Given the description of an element on the screen output the (x, y) to click on. 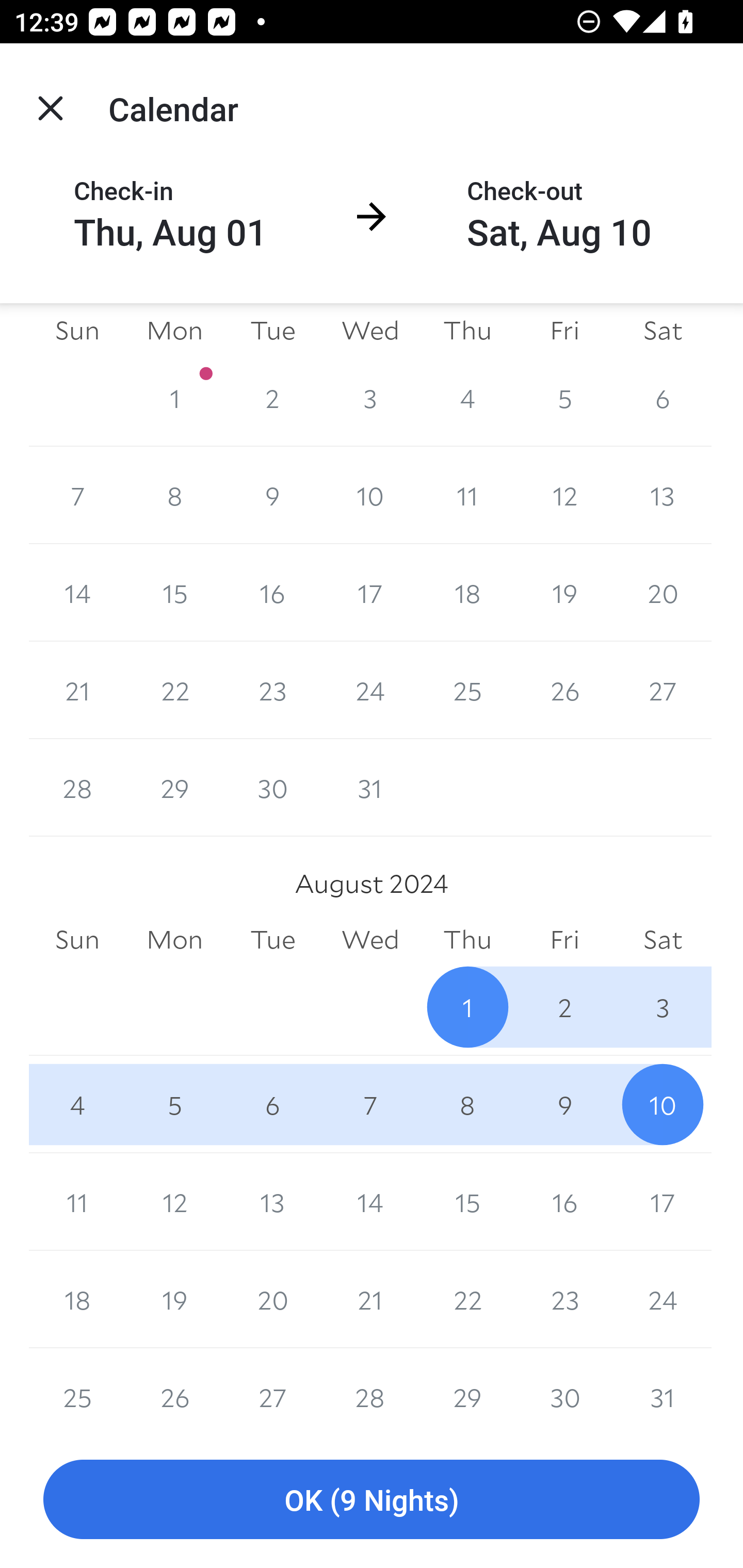
Sun (77, 330)
Mon (174, 330)
Tue (272, 330)
Wed (370, 330)
Thu (467, 330)
Fri (564, 330)
Sat (662, 330)
1 1 July 2024 (174, 397)
2 2 July 2024 (272, 397)
3 3 July 2024 (370, 397)
4 4 July 2024 (467, 397)
5 5 July 2024 (564, 397)
6 6 July 2024 (662, 397)
7 7 July 2024 (77, 495)
8 8 July 2024 (174, 495)
9 9 July 2024 (272, 495)
10 10 July 2024 (370, 495)
11 11 July 2024 (467, 495)
12 12 July 2024 (564, 495)
13 13 July 2024 (662, 495)
14 14 July 2024 (77, 592)
15 15 July 2024 (174, 592)
16 16 July 2024 (272, 592)
17 17 July 2024 (370, 592)
18 18 July 2024 (467, 592)
19 19 July 2024 (564, 592)
20 20 July 2024 (662, 592)
21 21 July 2024 (77, 689)
22 22 July 2024 (174, 689)
23 23 July 2024 (272, 689)
24 24 July 2024 (370, 689)
25 25 July 2024 (467, 689)
26 26 July 2024 (564, 689)
27 27 July 2024 (662, 689)
28 28 July 2024 (77, 787)
29 29 July 2024 (174, 787)
30 30 July 2024 (272, 787)
31 31 July 2024 (370, 787)
Sun (77, 939)
Mon (174, 939)
Tue (272, 939)
Wed (370, 939)
Thu (467, 939)
Fri (564, 939)
Sat (662, 939)
1 1 August 2024 (467, 1006)
2 2 August 2024 (564, 1006)
3 3 August 2024 (662, 1006)
4 4 August 2024 (77, 1104)
5 5 August 2024 (174, 1104)
6 6 August 2024 (272, 1104)
7 7 August 2024 (370, 1104)
8 8 August 2024 (467, 1104)
9 9 August 2024 (564, 1104)
10 10 August 2024 (662, 1104)
11 11 August 2024 (77, 1202)
12 12 August 2024 (174, 1202)
13 13 August 2024 (272, 1202)
14 14 August 2024 (370, 1202)
15 15 August 2024 (467, 1202)
16 16 August 2024 (564, 1202)
17 17 August 2024 (662, 1202)
18 18 August 2024 (77, 1299)
19 19 August 2024 (174, 1299)
20 20 August 2024 (272, 1299)
21 21 August 2024 (370, 1299)
22 22 August 2024 (467, 1299)
23 23 August 2024 (564, 1299)
24 24 August 2024 (662, 1299)
25 25 August 2024 (77, 1389)
26 26 August 2024 (174, 1389)
27 27 August 2024 (272, 1389)
28 28 August 2024 (370, 1389)
29 29 August 2024 (467, 1389)
30 30 August 2024 (564, 1389)
31 31 August 2024 (662, 1389)
OK (9 Nights) (371, 1499)
